Given the description of an element on the screen output the (x, y) to click on. 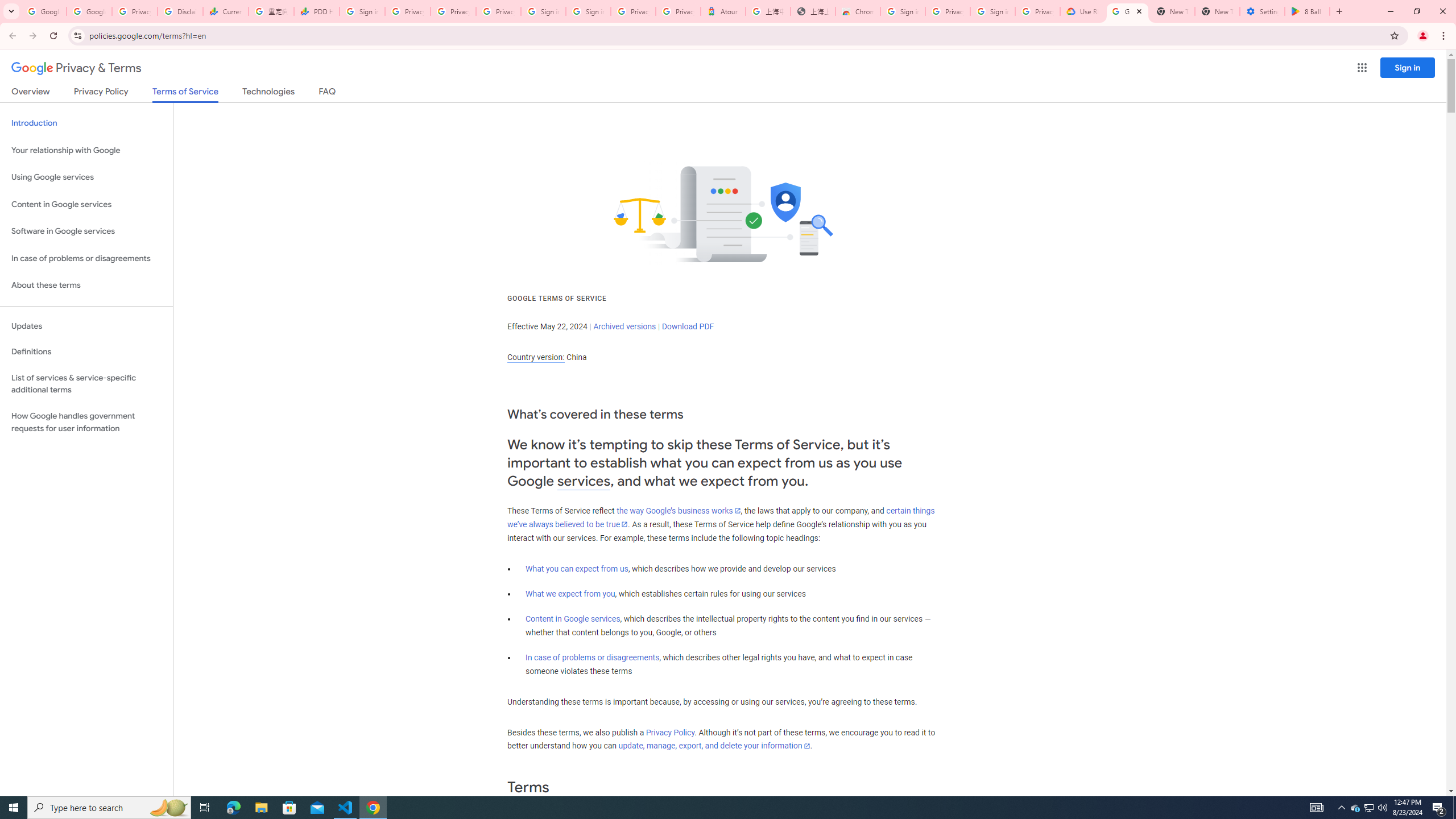
Privacy Checkup (497, 11)
Privacy Checkup (452, 11)
Country version: (535, 357)
